Given the description of an element on the screen output the (x, y) to click on. 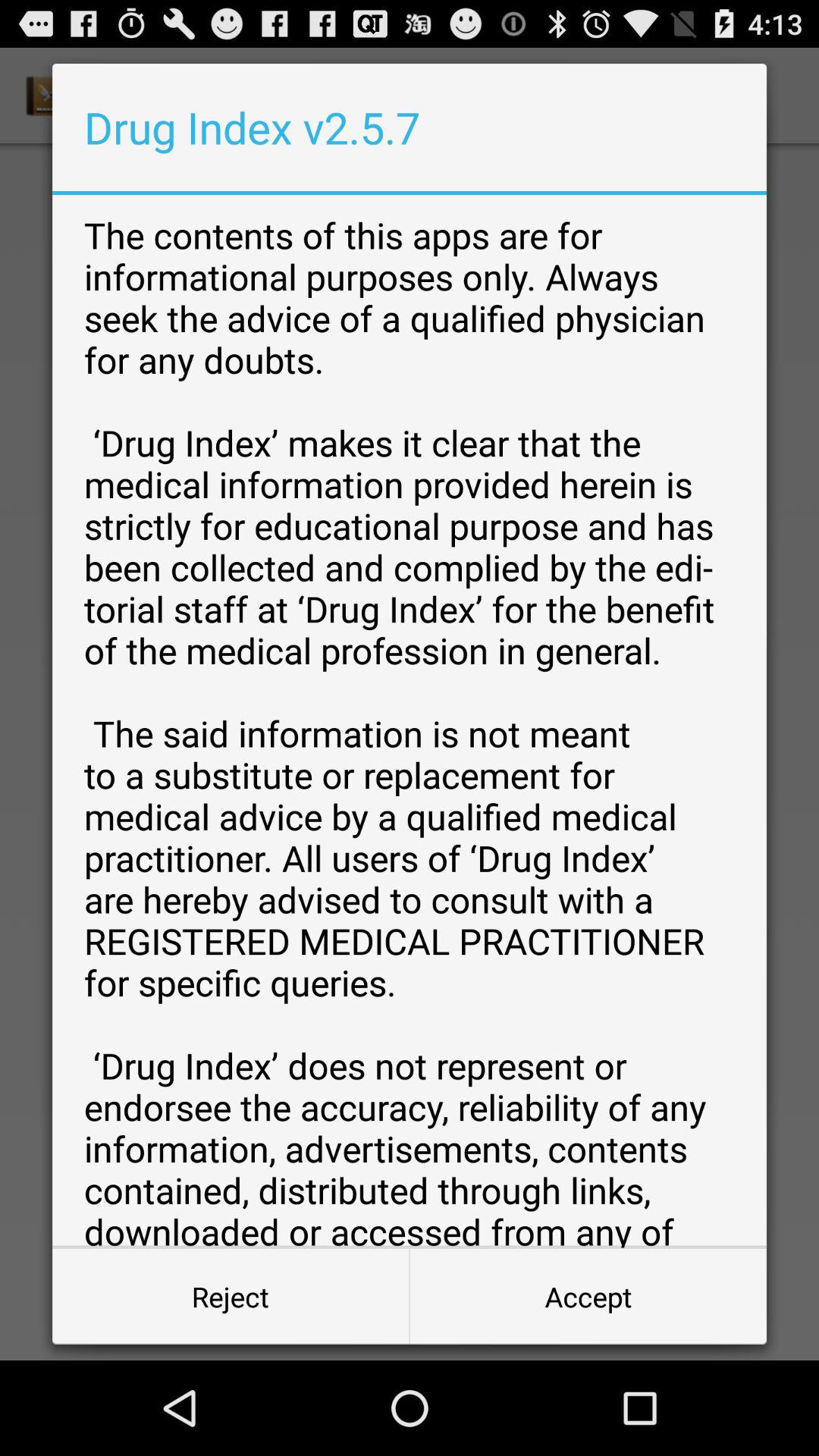
tap button next to accept (230, 1296)
